Given the description of an element on the screen output the (x, y) to click on. 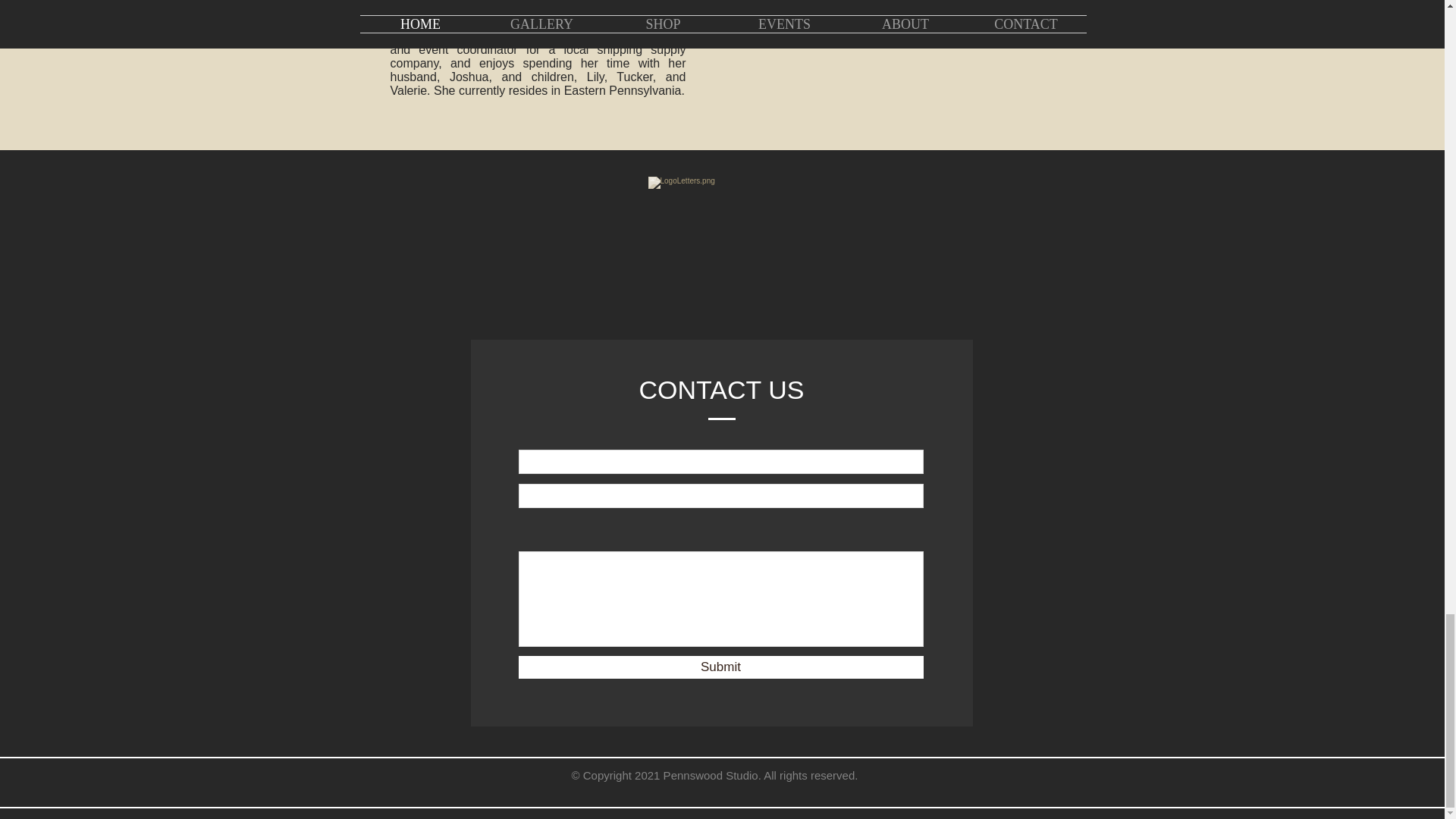
Submit (720, 667)
